Given the description of an element on the screen output the (x, y) to click on. 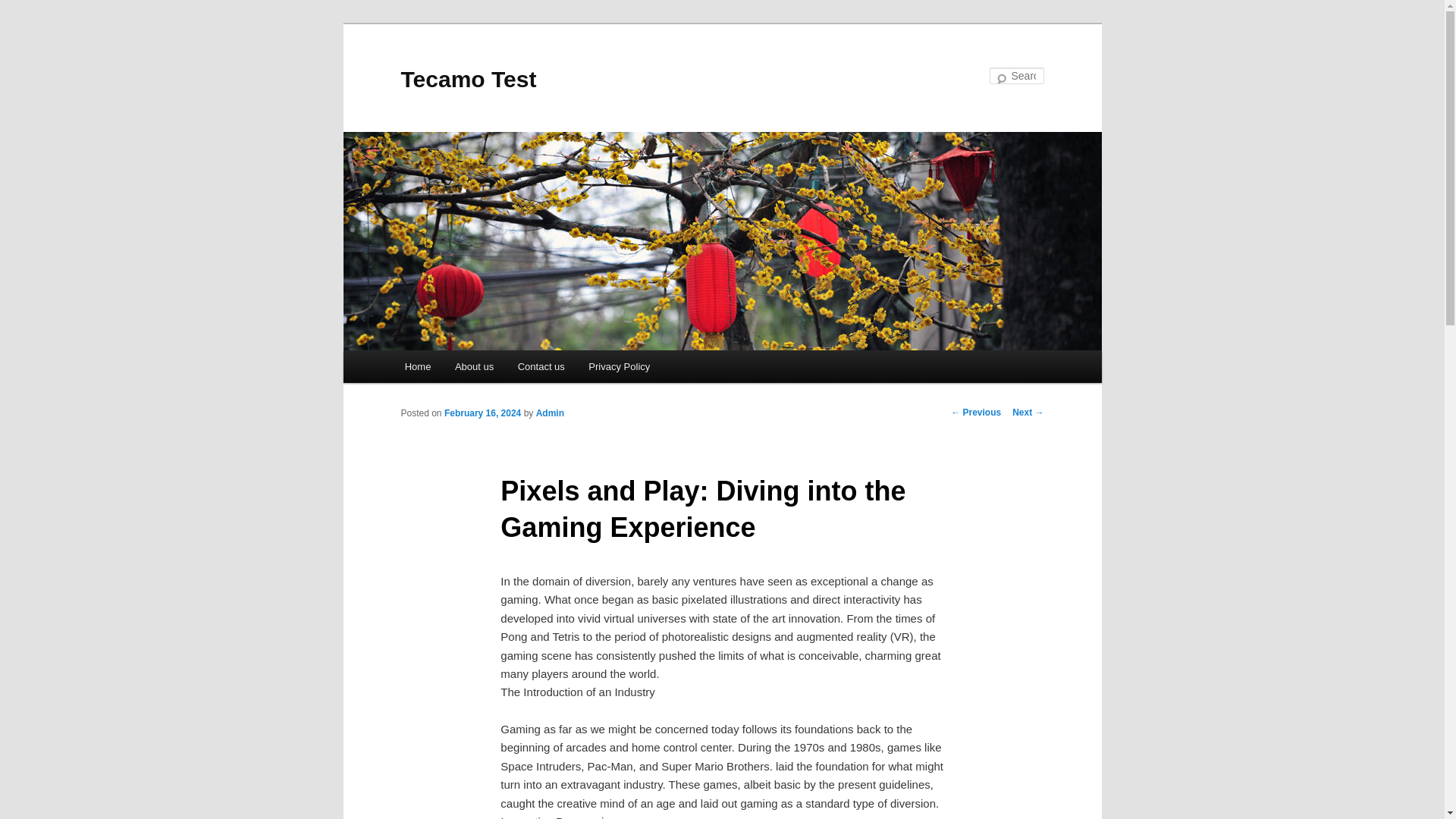
Home (417, 366)
View all posts by Admin (549, 412)
Tecamo Test (467, 78)
About us (473, 366)
February 16, 2024 (482, 412)
Admin (549, 412)
4:44 am (482, 412)
Search (24, 8)
Privacy Policy (619, 366)
Contact us (540, 366)
